Given the description of an element on the screen output the (x, y) to click on. 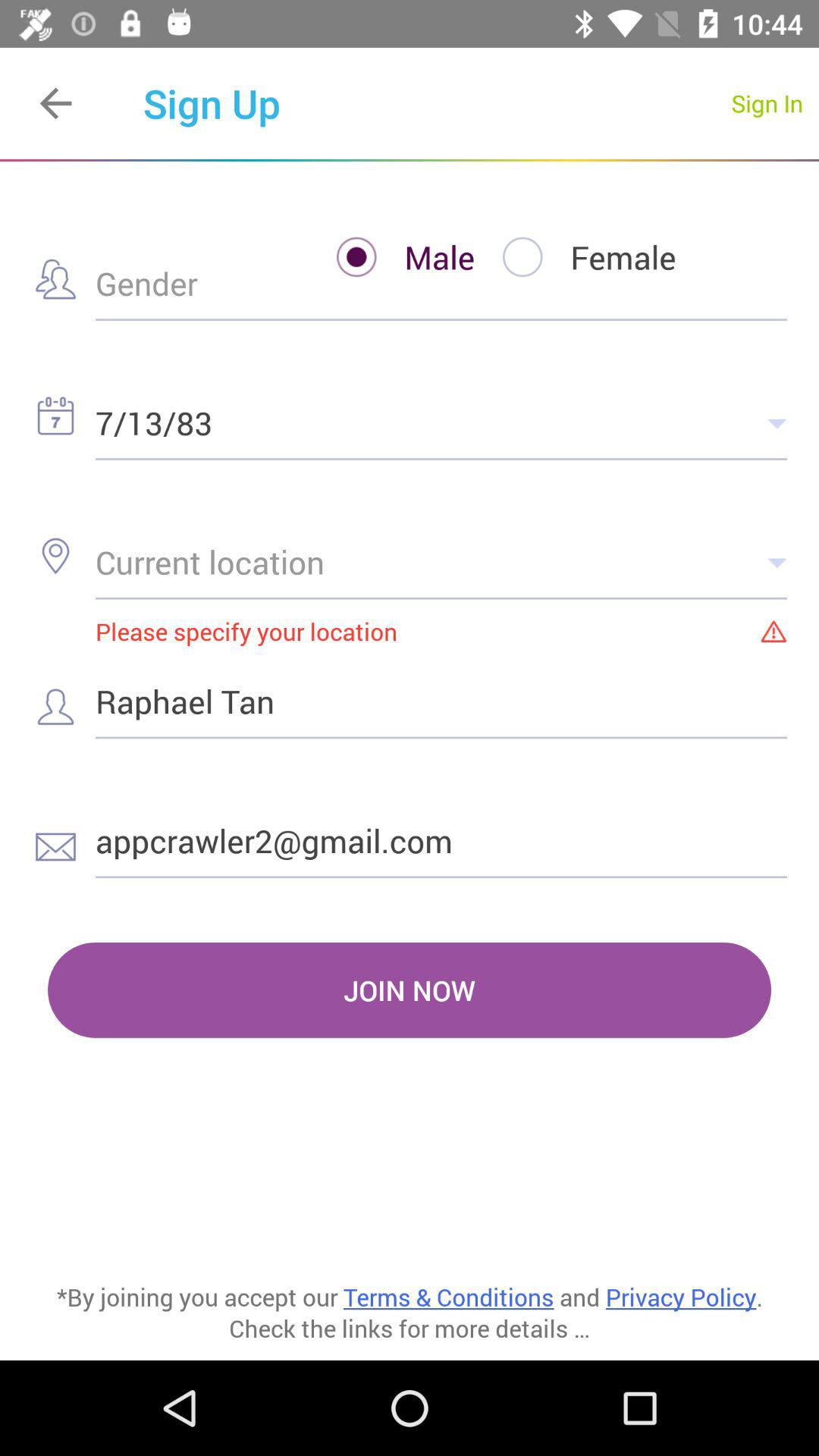
tap the item to the left of female icon (391, 256)
